Given the description of an element on the screen output the (x, y) to click on. 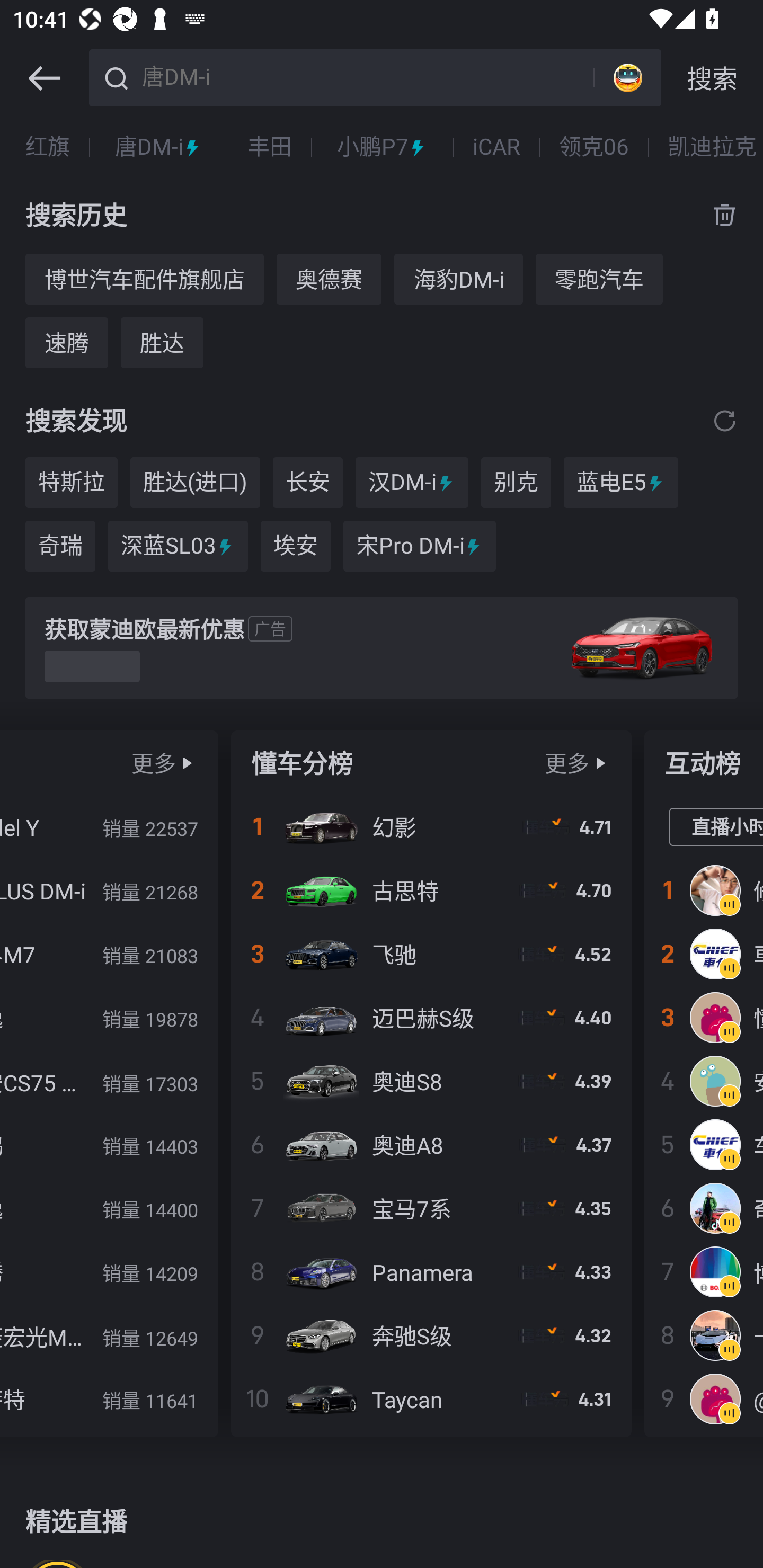
 唐DM-i (364, 76)
 (44, 78)
搜索 (711, 78)
红旗 (47, 147)
唐DM-i (158, 147)
丰田 (269, 147)
小鹏P7 (382, 147)
iCAR (496, 147)
领克06 (593, 147)
凯迪拉克 (711, 147)
博世汽车配件旗舰店 (144, 278)
奥德赛 (329, 278)
海豹DM-i (458, 278)
零跑汽车 (598, 278)
速腾 (66, 342)
胜达 (161, 342)
 (724, 419)
特斯拉 (71, 482)
胜达(进口) (195, 482)
长安 (307, 482)
汉DM-i (411, 482)
别克 (515, 482)
蓝电E5 (620, 482)
奇瑞 (60, 546)
深蓝SL03 (177, 546)
埃安 (295, 546)
宋Pro DM-i (419, 546)
获取蒙迪欧最新优惠 广告 立享优惠 (381, 648)
更多 (153, 762)
更多 (566, 762)
 (187, 763)
 (600, 763)
Model Y 销量 22537 (108, 826)
幻影 4.71 (430, 826)
直播小时榜 (716, 826)
秦PLUS DM-i 销量 21268 (108, 890)
古思特 4.70 (430, 890)
修变速箱的小李 (704, 890)
问界M7 销量 21083 (108, 953)
飞驰 4.52 (430, 953)
車仆 (704, 953)
轩逸 销量 19878 (108, 1017)
迈巴赫S级 4.40 (430, 1017)
懂车帝在线选车 (704, 1017)
长安CS75 PLUS 销量 17303 (108, 1080)
奥迪S8 4.39 (430, 1080)
安妮爱说车 (704, 1080)
海鸥 销量 14403 (108, 1144)
奥迪A8 4.37 (430, 1144)
车仆汽车美容旗舰店 (704, 1144)
朗逸 销量 14400 (108, 1208)
宝马7系 4.35 (430, 1208)
奇瑞仲胖子 (704, 1208)
速腾 销量 14209 (108, 1271)
Panamera 4.33 (430, 1271)
博世汽车配件旗舰店 (704, 1271)
五菱宏光MINIEV 销量 12649 (108, 1335)
奔驰S级 4.32 (430, 1335)
卡贝尔汽车用品旗舰店 (704, 1335)
帕萨特 销量 11641 (108, 1398)
Taycan 4.31 (430, 1398)
@@ (704, 1398)
